Given the description of an element on the screen output the (x, y) to click on. 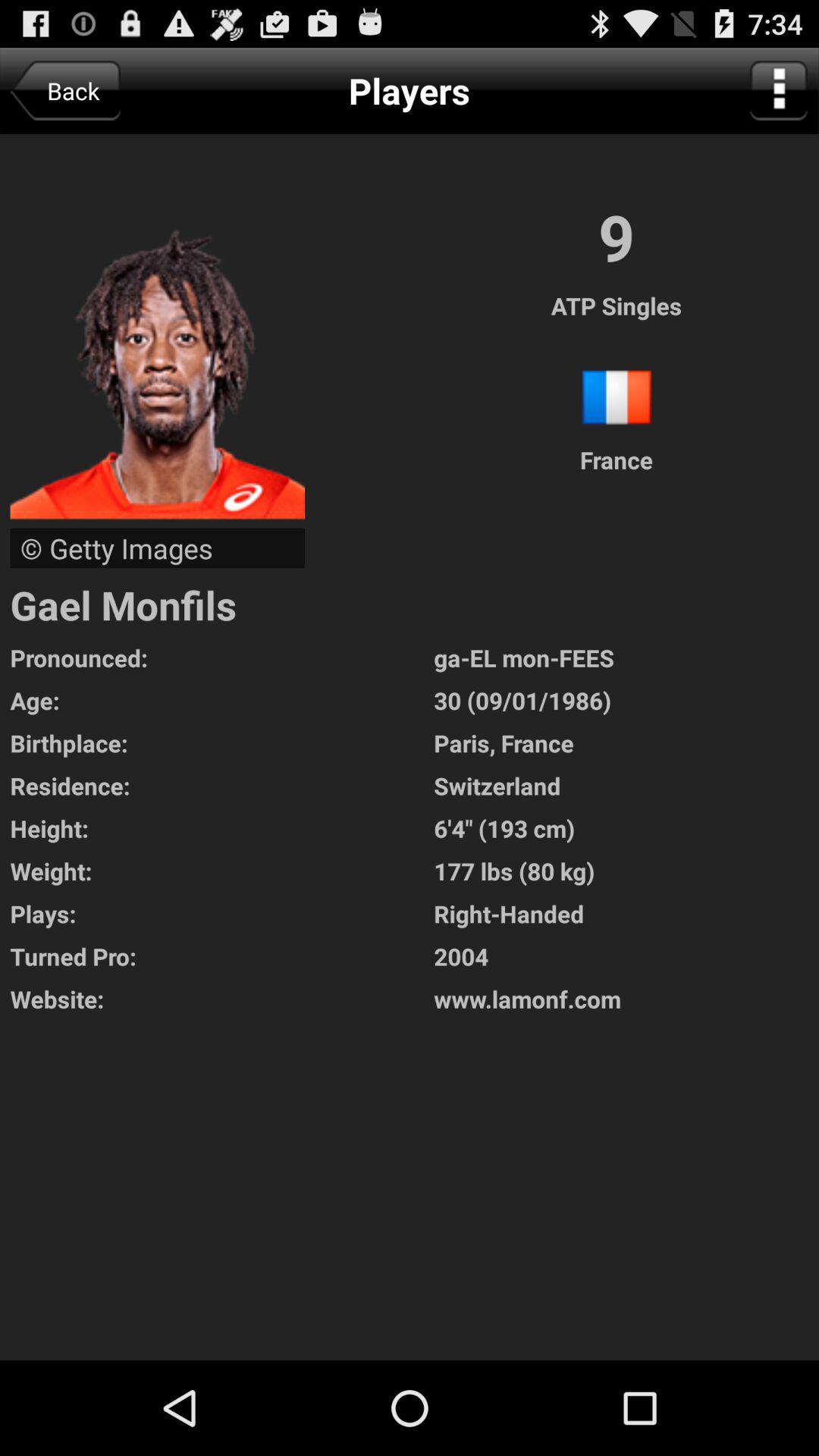
tap the app to the left of the 6 4 193 icon (221, 870)
